Given the description of an element on the screen output the (x, y) to click on. 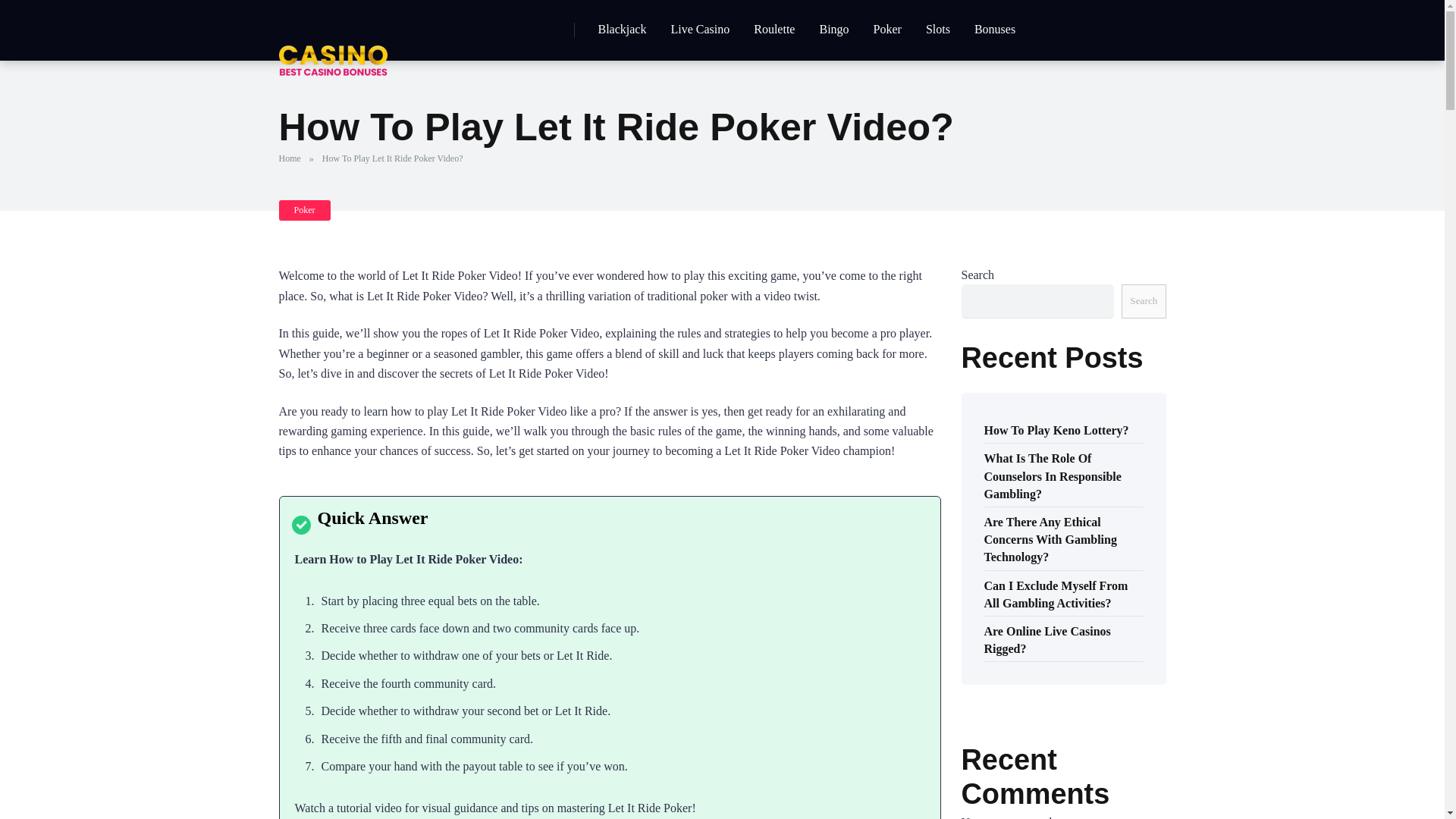
British Casino Guide (333, 40)
Bonuses (994, 30)
Live Casino (699, 30)
How To Play Keno Lottery? (1056, 428)
What Is The Role Of Counselors In Responsible Gambling? (1052, 474)
Poker (304, 209)
Are There Any Ethical Concerns With Gambling Technology? (1050, 538)
Home (293, 158)
Blackjack (621, 30)
Are Online Live Casinos Rigged? (1047, 639)
Roulette (773, 30)
Search (1143, 301)
Can I Exclude Myself From All Gambling Activities? (1056, 593)
